Given the description of an element on the screen output the (x, y) to click on. 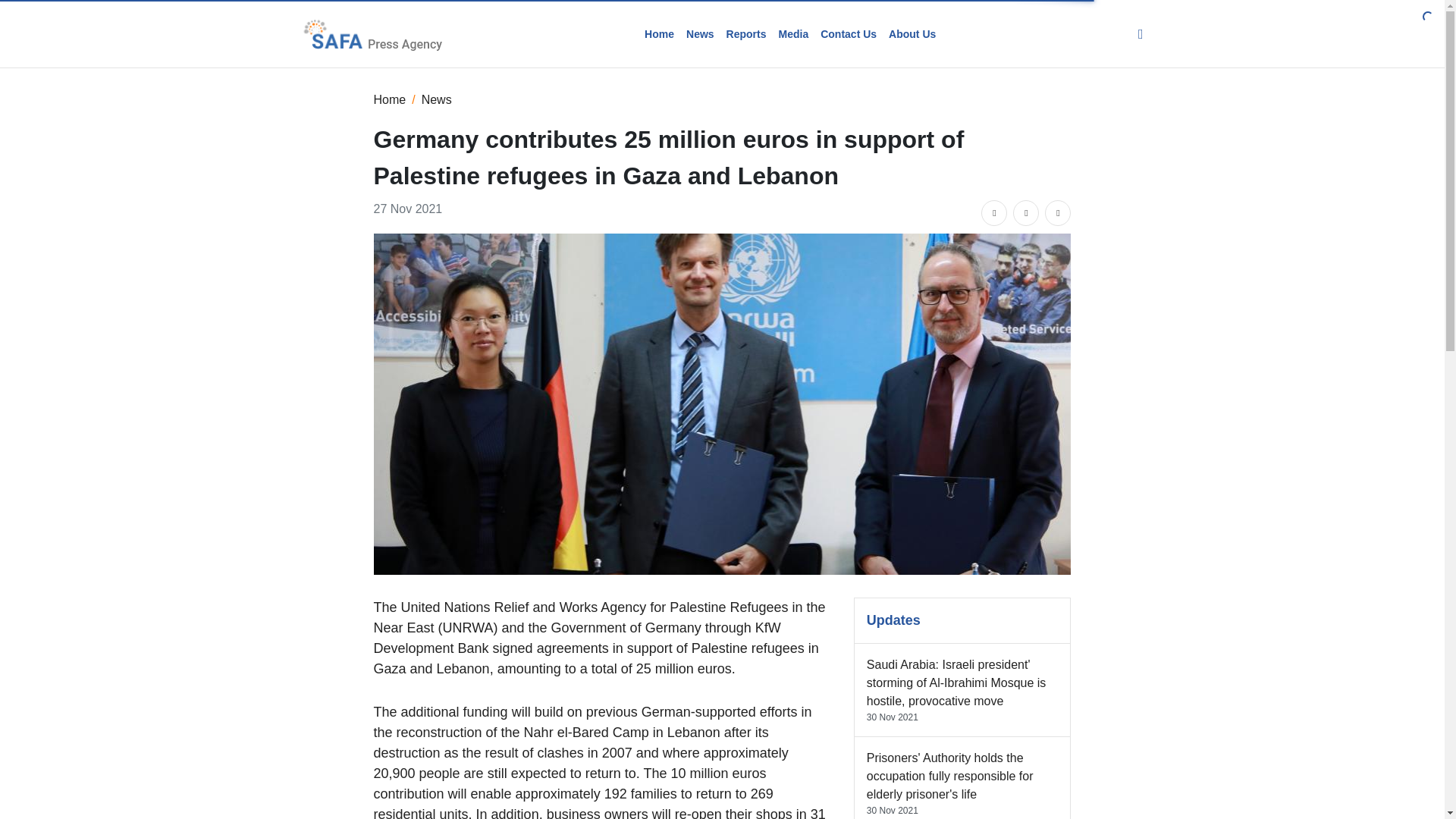
News (436, 99)
Contact Us (848, 33)
News (699, 33)
Home (659, 33)
About Us (912, 33)
Media (792, 33)
Reports (746, 33)
Home (389, 99)
